Given the description of an element on the screen output the (x, y) to click on. 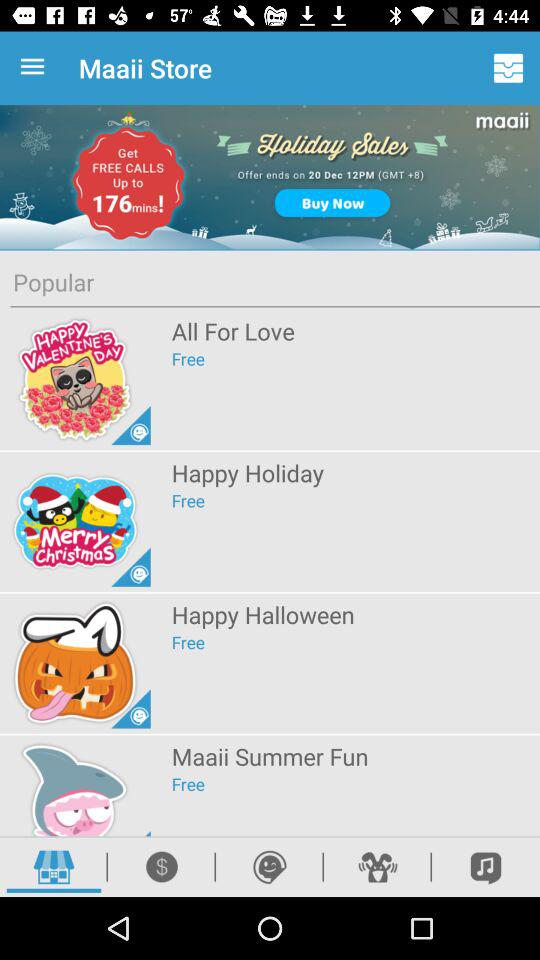
click the icon above popular item (270, 177)
